Given the description of an element on the screen output the (x, y) to click on. 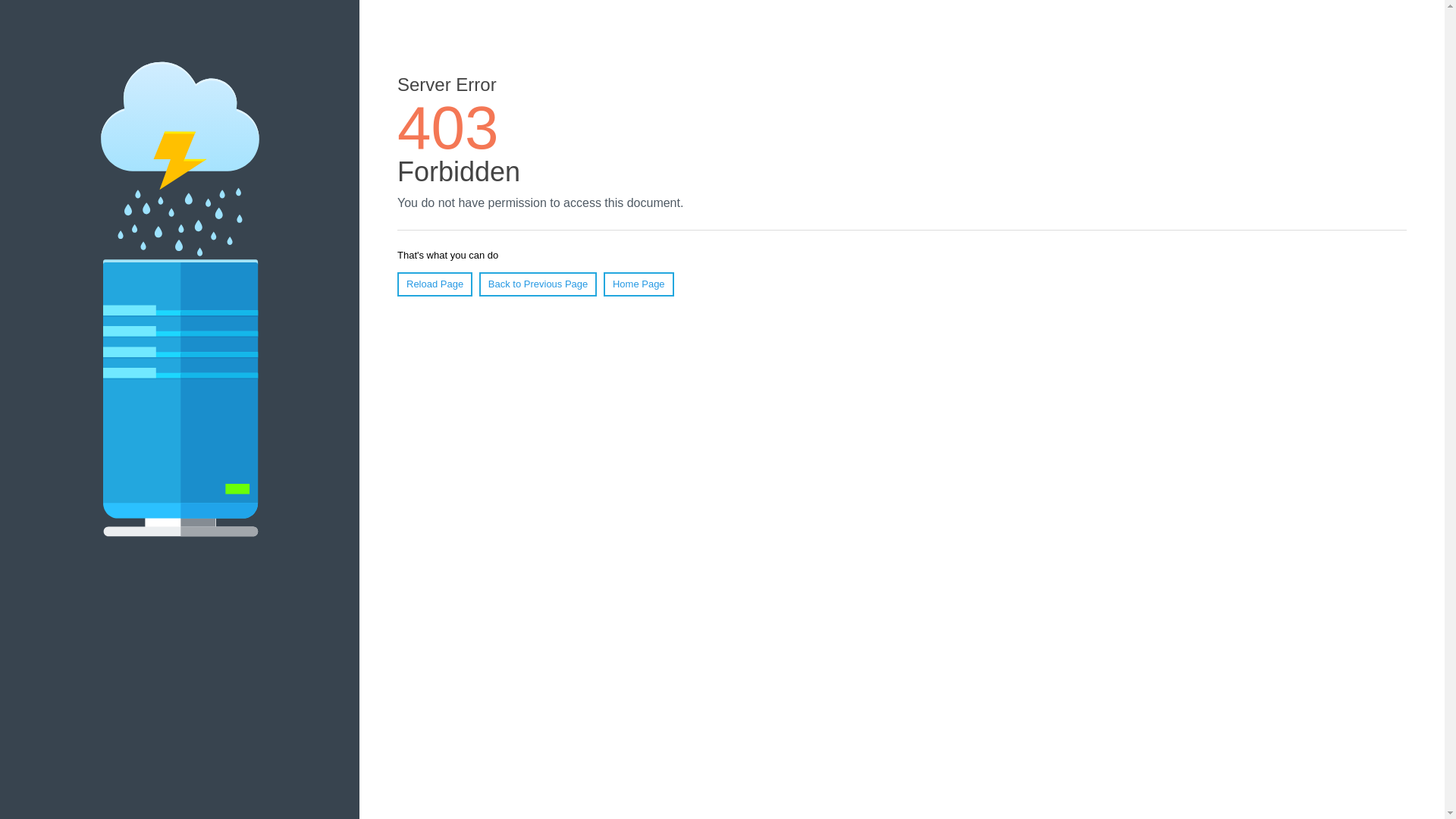
Back to Previous Page (537, 283)
Reload Page (434, 283)
Home Page (639, 283)
